Given the description of an element on the screen output the (x, y) to click on. 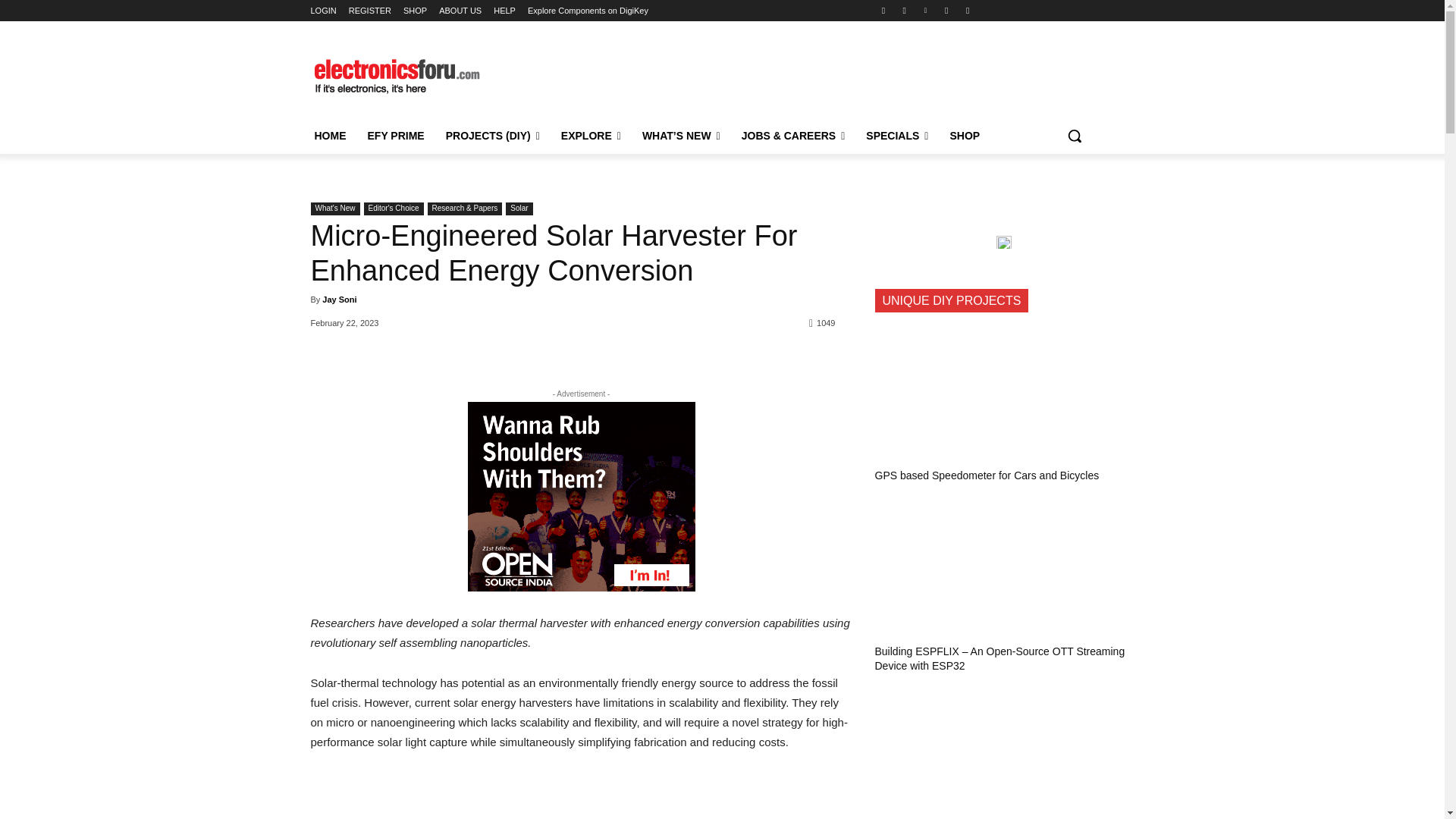
Twitter (946, 9)
Facebook (883, 9)
Youtube (967, 9)
Instagram (903, 9)
Linkedin (925, 9)
